Given the description of an element on the screen output the (x, y) to click on. 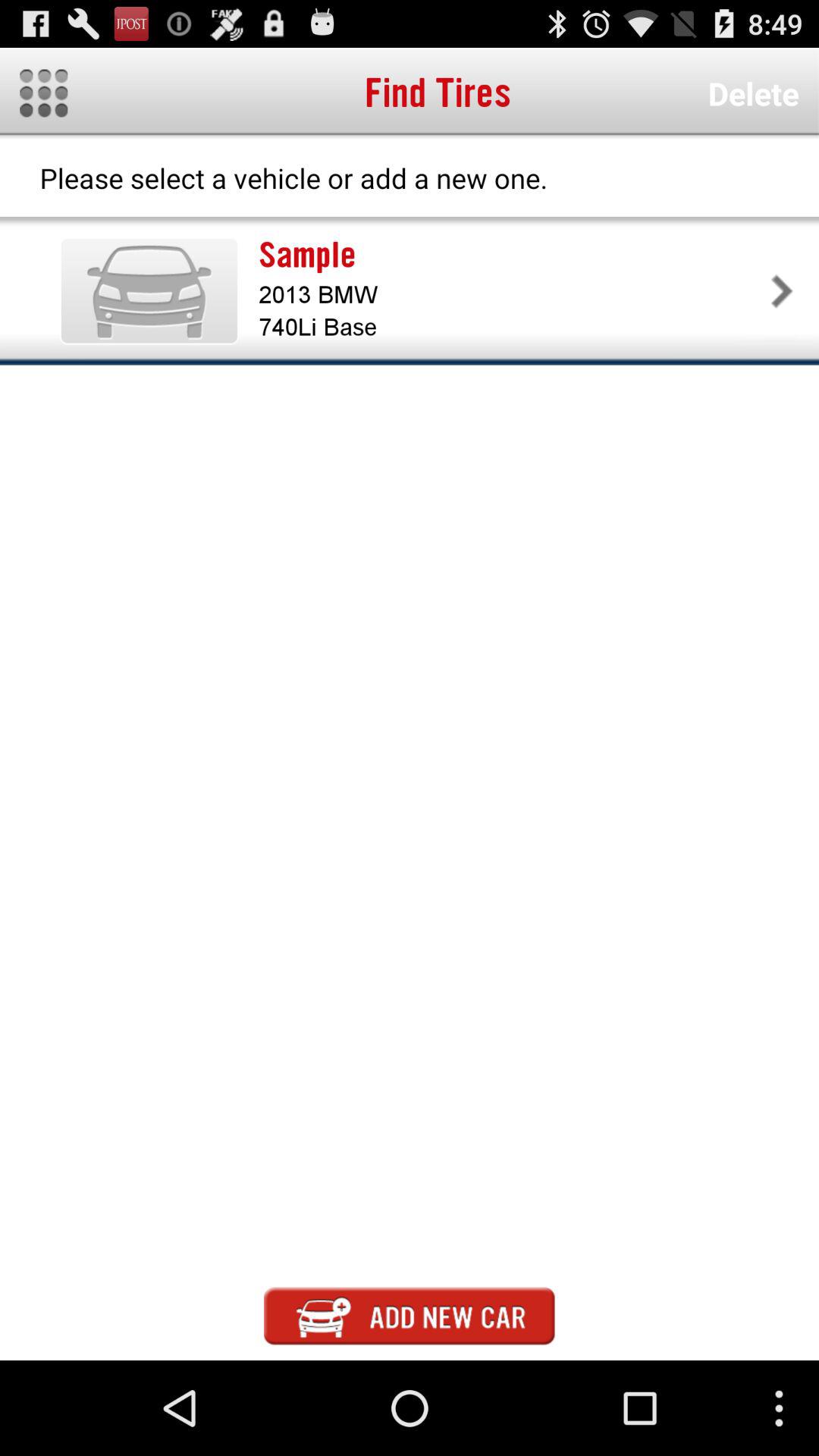
turn off the app to the left of sample app (148, 290)
